Given the description of an element on the screen output the (x, y) to click on. 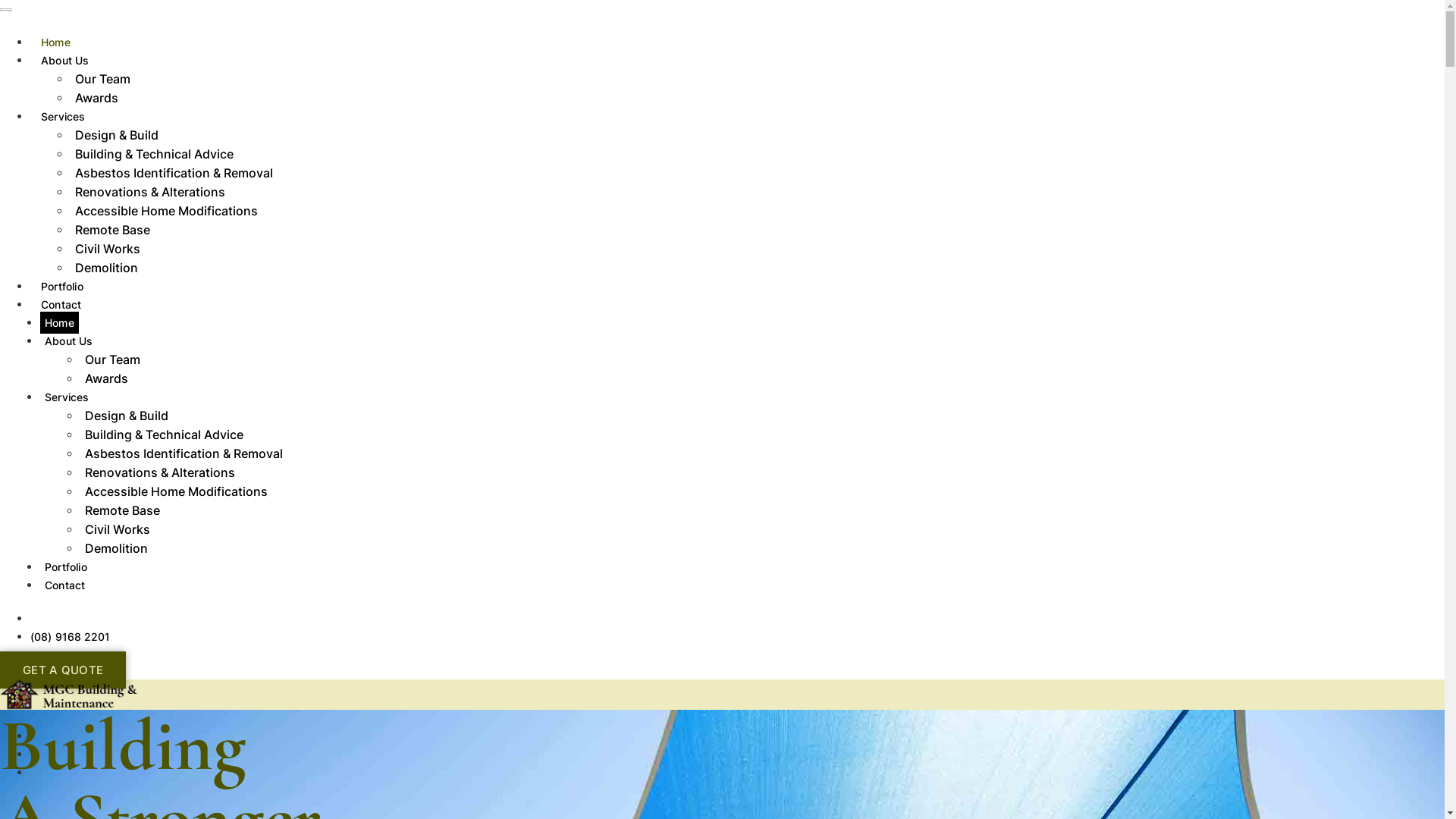
Remote Base Element type: text (112, 229)
Accessible Home Modifications Element type: text (176, 491)
Services Element type: text (63, 115)
Building & Technical Advice Element type: text (154, 153)
Portfolio Element type: text (65, 566)
Contact Element type: text (60, 304)
Asbestos Identification & Removal Element type: text (183, 453)
Design & Build Element type: text (126, 415)
Demolition Element type: text (116, 548)
Design & Build Element type: text (116, 134)
Civil Works Element type: text (107, 248)
Awards Element type: text (96, 97)
Asbestos Identification & Removal Element type: text (173, 172)
Portfolio Element type: text (62, 285)
About Us Element type: text (65, 59)
Our Team Element type: text (102, 78)
Building & Technical Advice Element type: text (163, 434)
Contact Element type: text (64, 585)
Services Element type: text (67, 396)
Renovations & Alterations Element type: text (159, 472)
Civil Works Element type: text (117, 529)
About Us Element type: text (68, 340)
Demolition Element type: text (106, 267)
Home Element type: text (55, 41)
Remote Base Element type: text (122, 510)
Renovations & Alterations Element type: text (149, 191)
GET A QUOTE Element type: text (62, 669)
Accessible Home Modifications Element type: text (166, 210)
Our Team Element type: text (112, 359)
Awards Element type: text (106, 378)
Home Element type: text (59, 322)
